Given the description of an element on the screen output the (x, y) to click on. 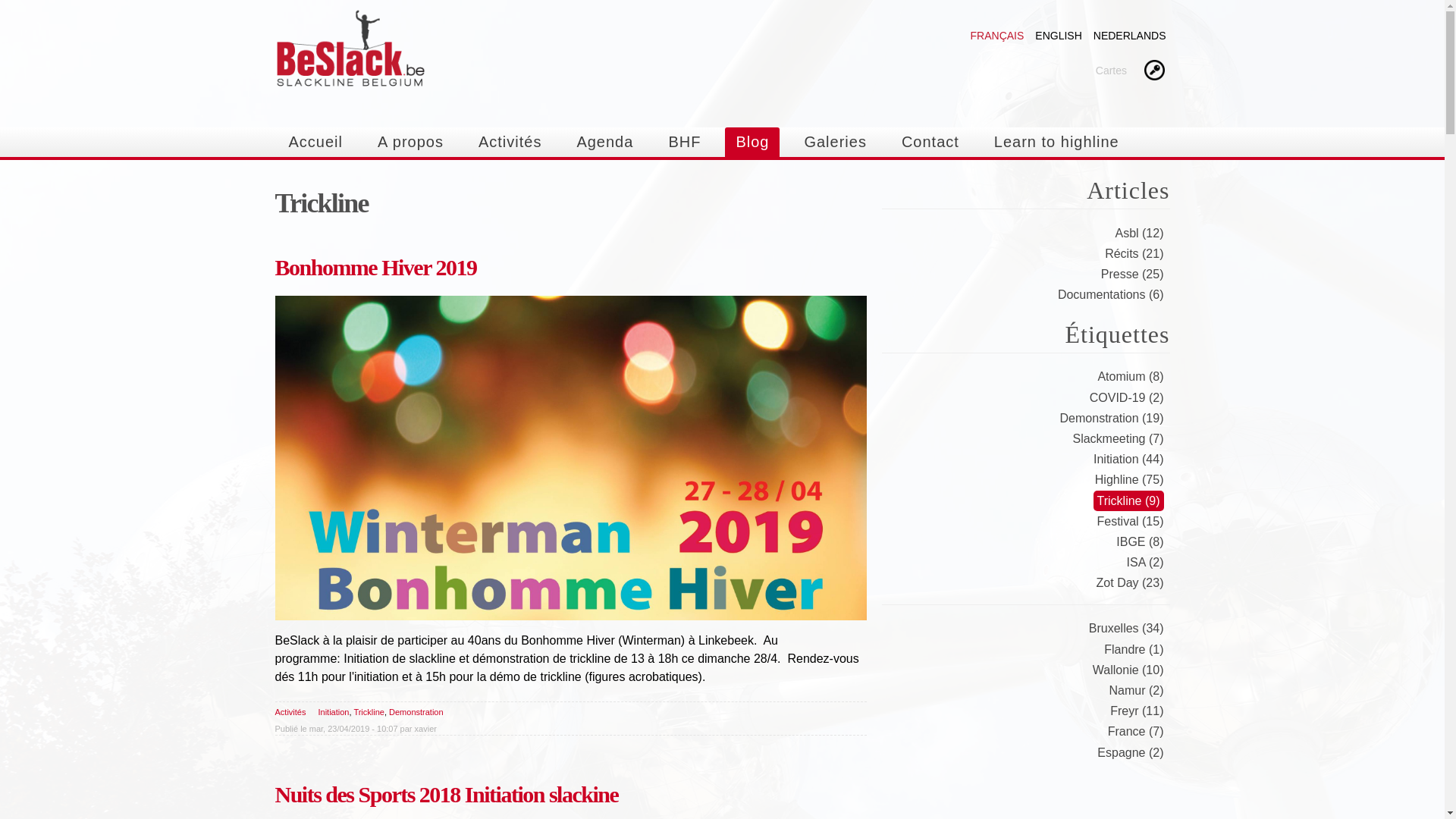
COVID-19 (2) Element type: text (1126, 397)
IBGE (8) Element type: text (1139, 541)
Highline (75) Element type: text (1129, 479)
Contact Element type: text (930, 141)
Presse (25) Element type: text (1132, 273)
Demonstration (19) Element type: text (1112, 417)
Zot Day (23) Element type: text (1130, 582)
Slackmeeting (7) Element type: text (1117, 438)
Espagne (2) Element type: text (1130, 752)
BHF Element type: text (684, 141)
xavier Element type: text (425, 728)
A propos Element type: text (410, 141)
Connexion Element type: hover (1153, 70)
Galeries Element type: text (834, 141)
Documentations (6) Element type: text (1110, 294)
Agenda Element type: text (604, 141)
Accueil Element type: text (314, 141)
ISA (2) Element type: text (1145, 561)
Learn to highline Element type: text (1056, 141)
Aller au contenu principal Element type: text (688, 1)
Cartes Element type: text (1110, 69)
Bruxelles (34) Element type: text (1126, 627)
Demonstration Element type: text (416, 711)
Wallonie (10) Element type: text (1128, 669)
Blog Element type: text (751, 141)
Namur (2) Element type: text (1135, 690)
France (7) Element type: text (1135, 730)
Trickline Element type: text (368, 711)
Trickline (9) Element type: text (1128, 500)
Bonhomme Hiver 2019 Element type: text (375, 266)
Freyr (11) Element type: text (1136, 710)
Nuits des Sports 2018 Initiation slackine Element type: text (446, 793)
Festival (15) Element type: text (1129, 520)
Flandre (1) Element type: text (1133, 649)
Initiation Element type: text (332, 711)
NEDERLANDS Element type: text (1129, 35)
Initiation (44) Element type: text (1128, 458)
Atomium (8) Element type: text (1130, 376)
Asbl (12) Element type: text (1138, 232)
ENGLISH Element type: text (1058, 35)
